Given the description of an element on the screen output the (x, y) to click on. 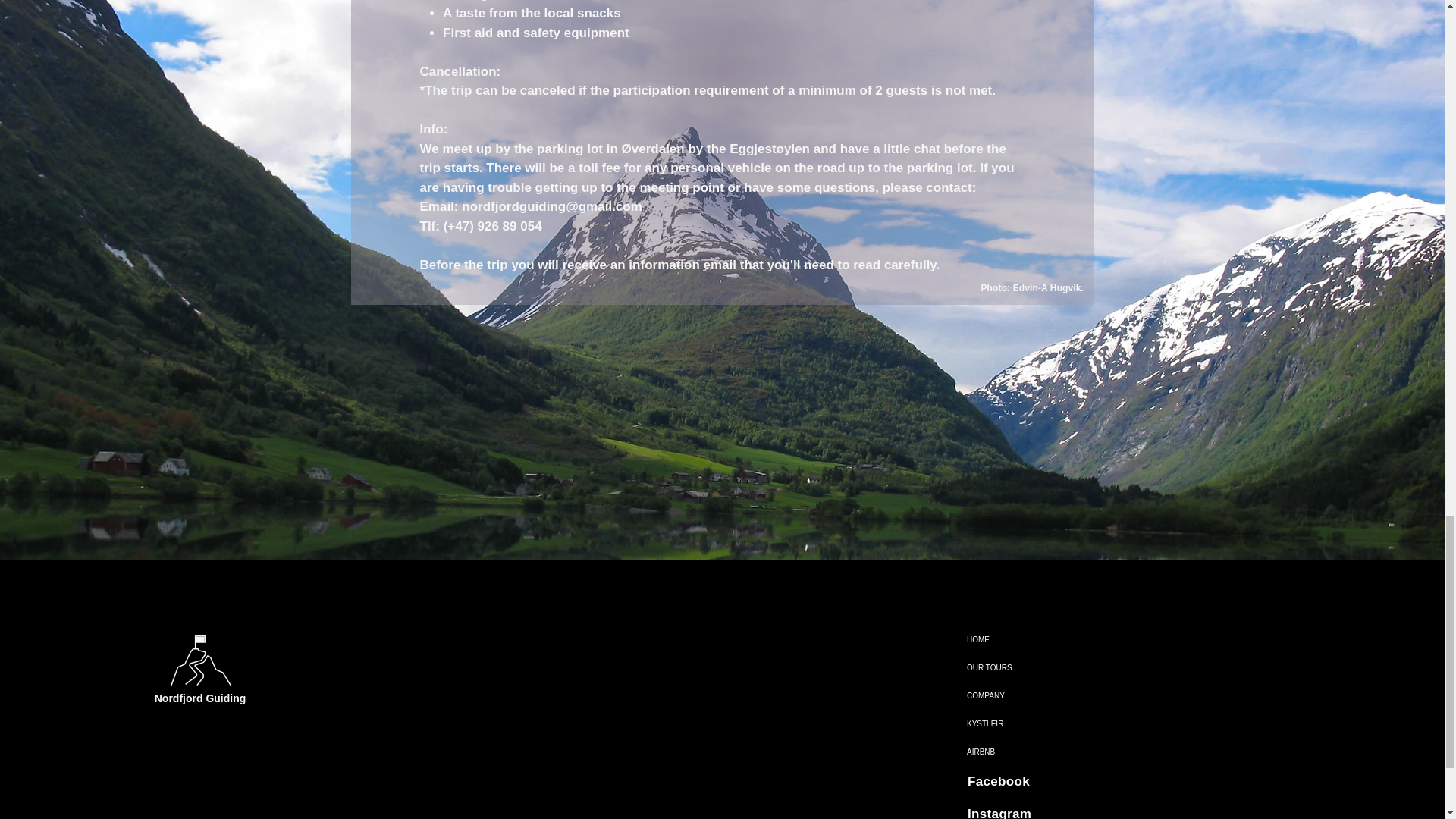
HOME (1000, 639)
Nordfjord Guiding (200, 698)
KYSTLEIR (1000, 723)
Facebook (998, 780)
Instagram (999, 812)
AIRBNB (1000, 751)
